Given the description of an element on the screen output the (x, y) to click on. 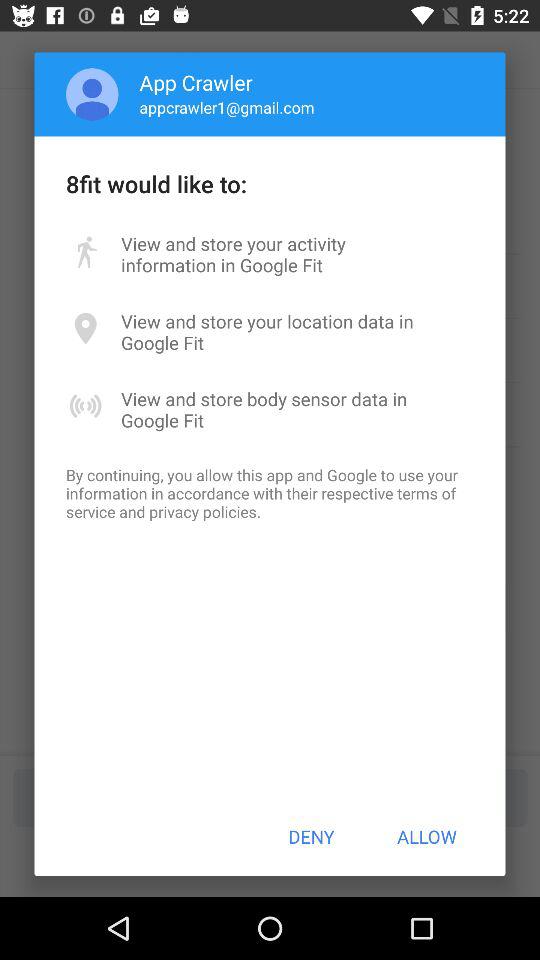
launch deny (311, 836)
